Given the description of an element on the screen output the (x, y) to click on. 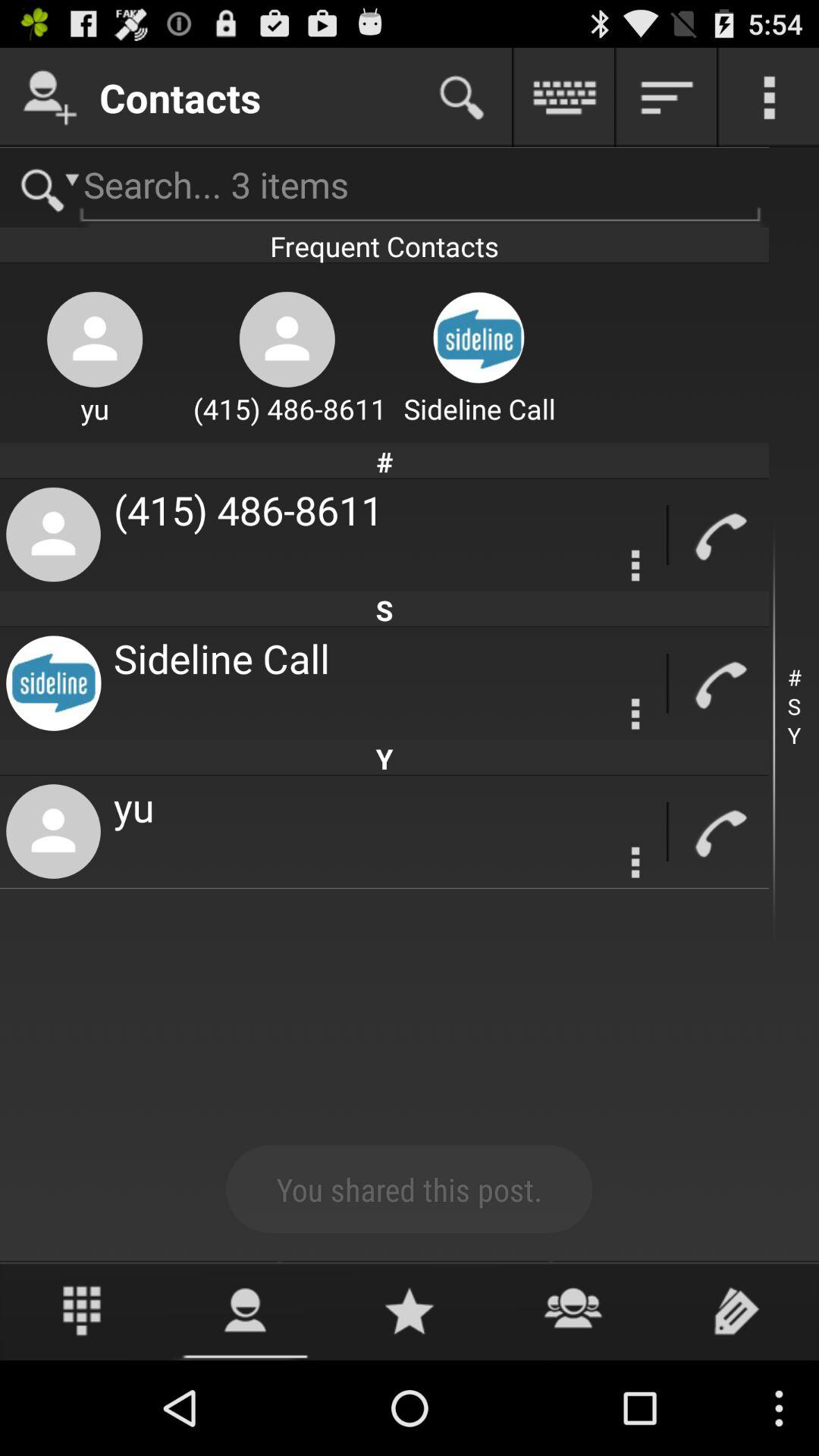
calling menu (635, 565)
